Given the description of an element on the screen output the (x, y) to click on. 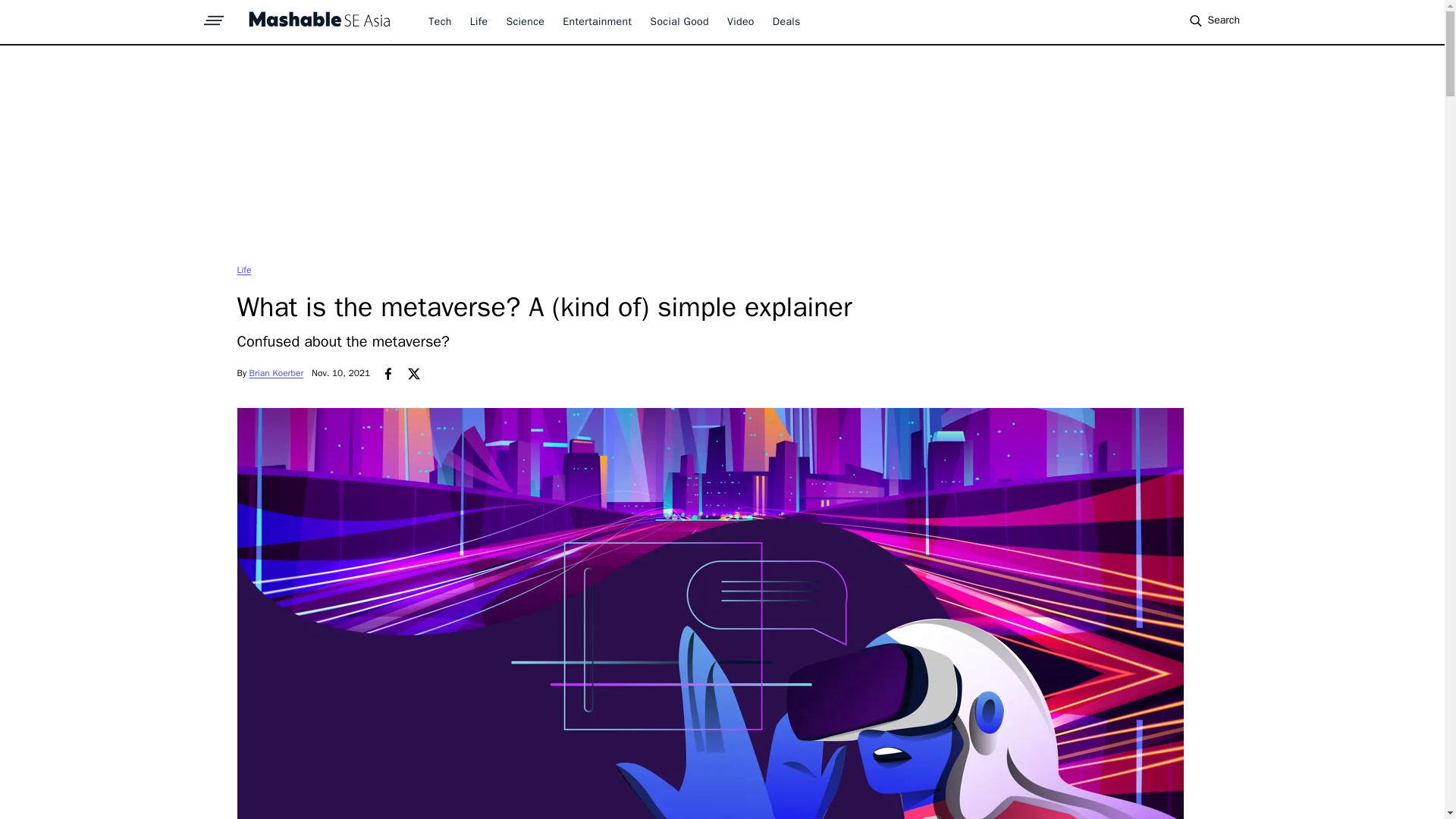
3rd party ad content (721, 153)
Social Good (679, 21)
Life (478, 21)
Deals (786, 21)
Tech (439, 21)
Entertainment (596, 21)
sprite-hamburger (213, 16)
Life (242, 269)
Science (524, 21)
Video (740, 21)
Life (242, 269)
Brian Koerber (276, 372)
